Given the description of an element on the screen output the (x, y) to click on. 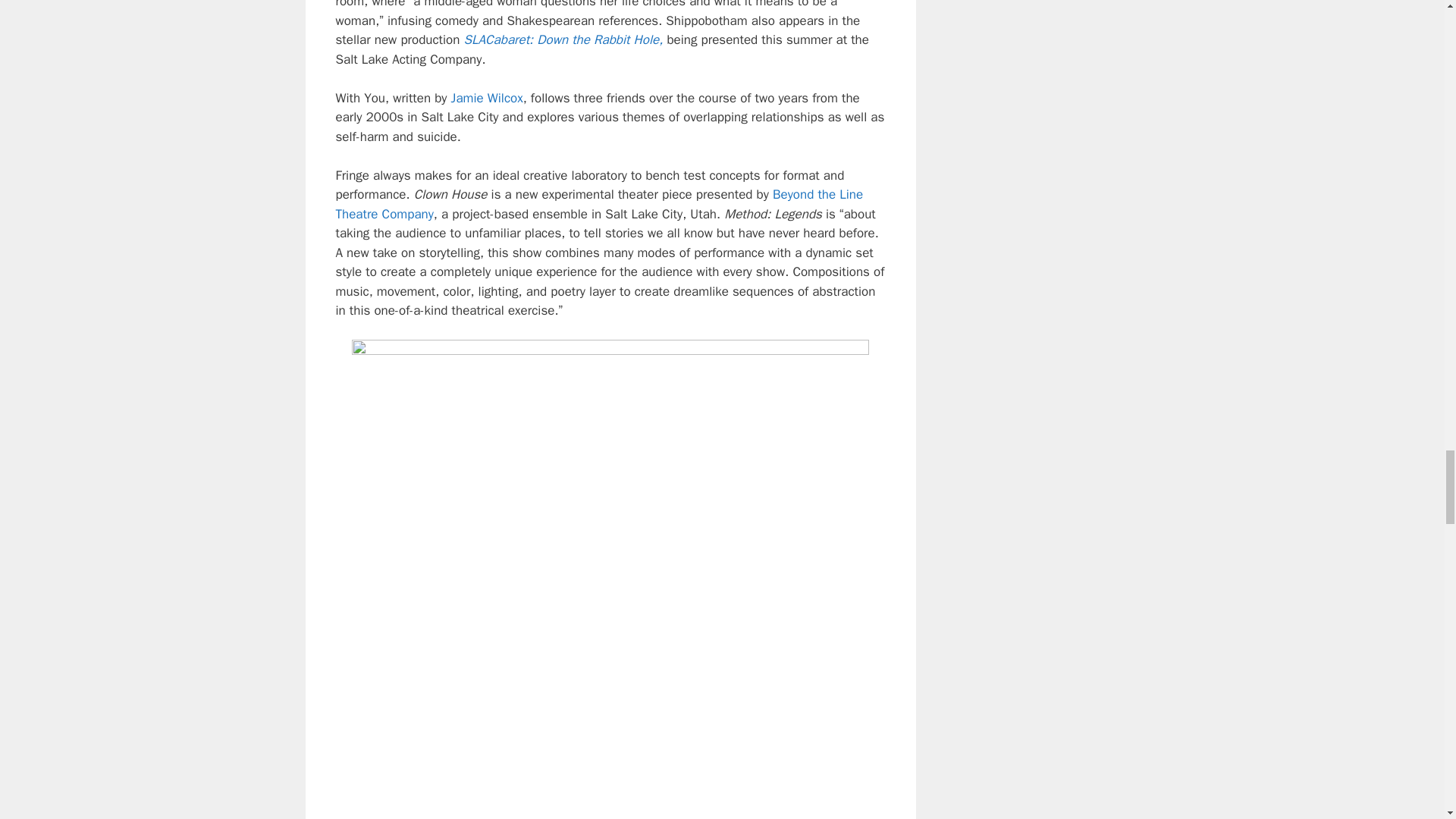
Beyond the Line Theatre Company (598, 203)
SLACabaret: Down the Rabbit Hole, (563, 39)
Jamie Wilcox (486, 98)
